Given the description of an element on the screen output the (x, y) to click on. 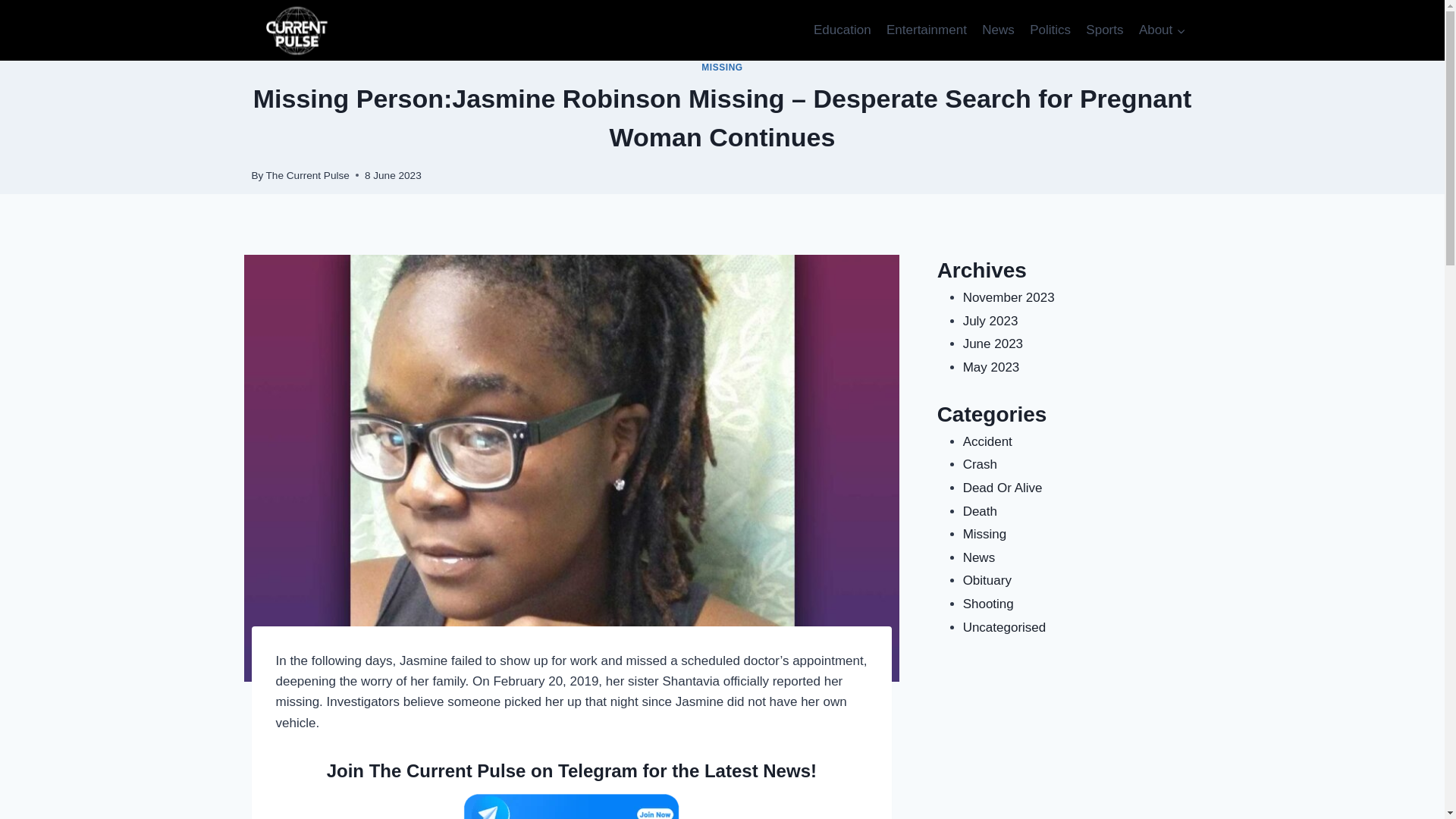
Sports (1104, 30)
Education (842, 30)
Entertainment (926, 30)
Politics (1050, 30)
About (1162, 30)
News (998, 30)
The Current Pulse (307, 174)
MISSING (721, 67)
